Given the description of an element on the screen output the (x, y) to click on. 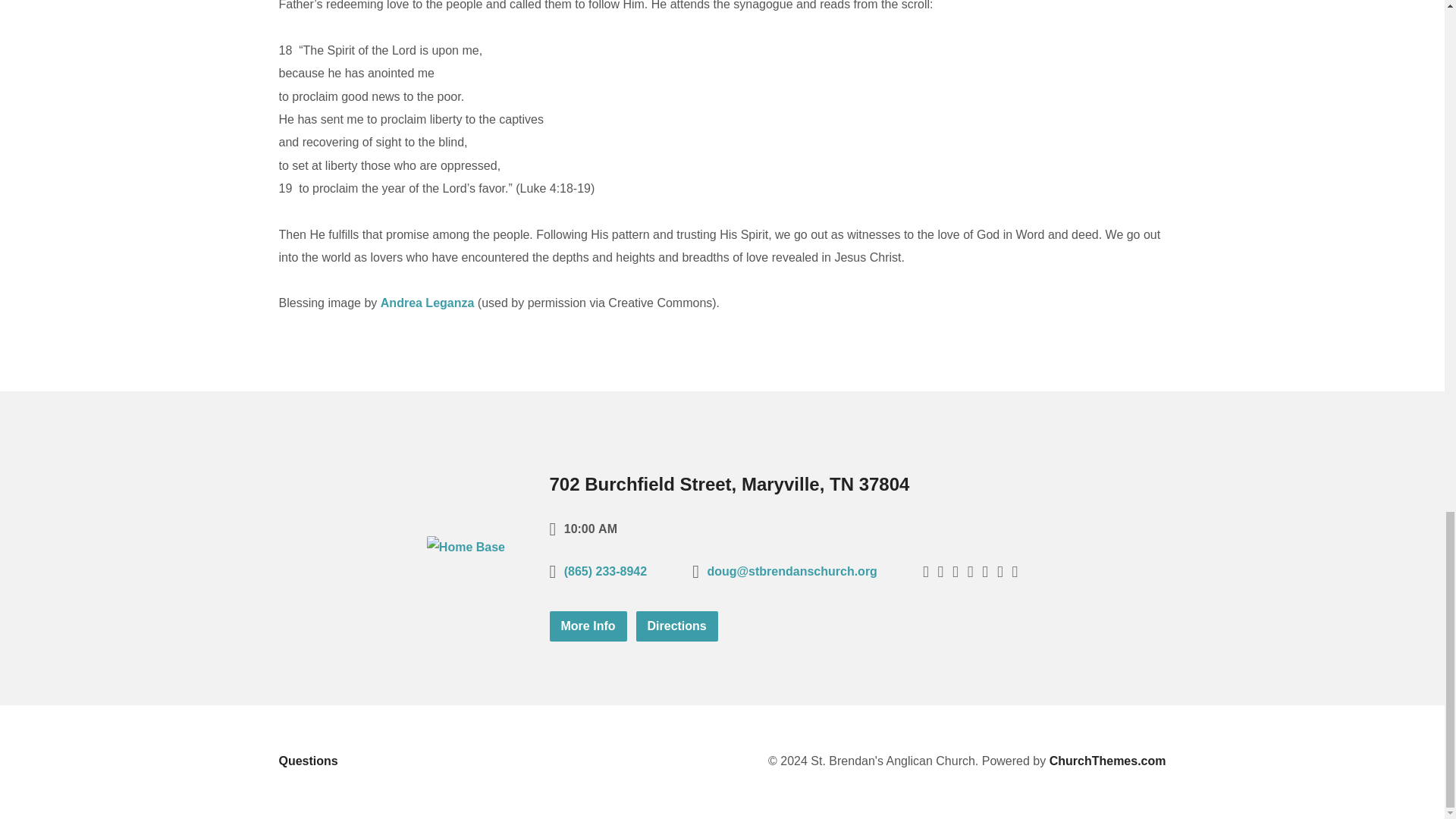
Home Base (465, 546)
